Given the description of an element on the screen output the (x, y) to click on. 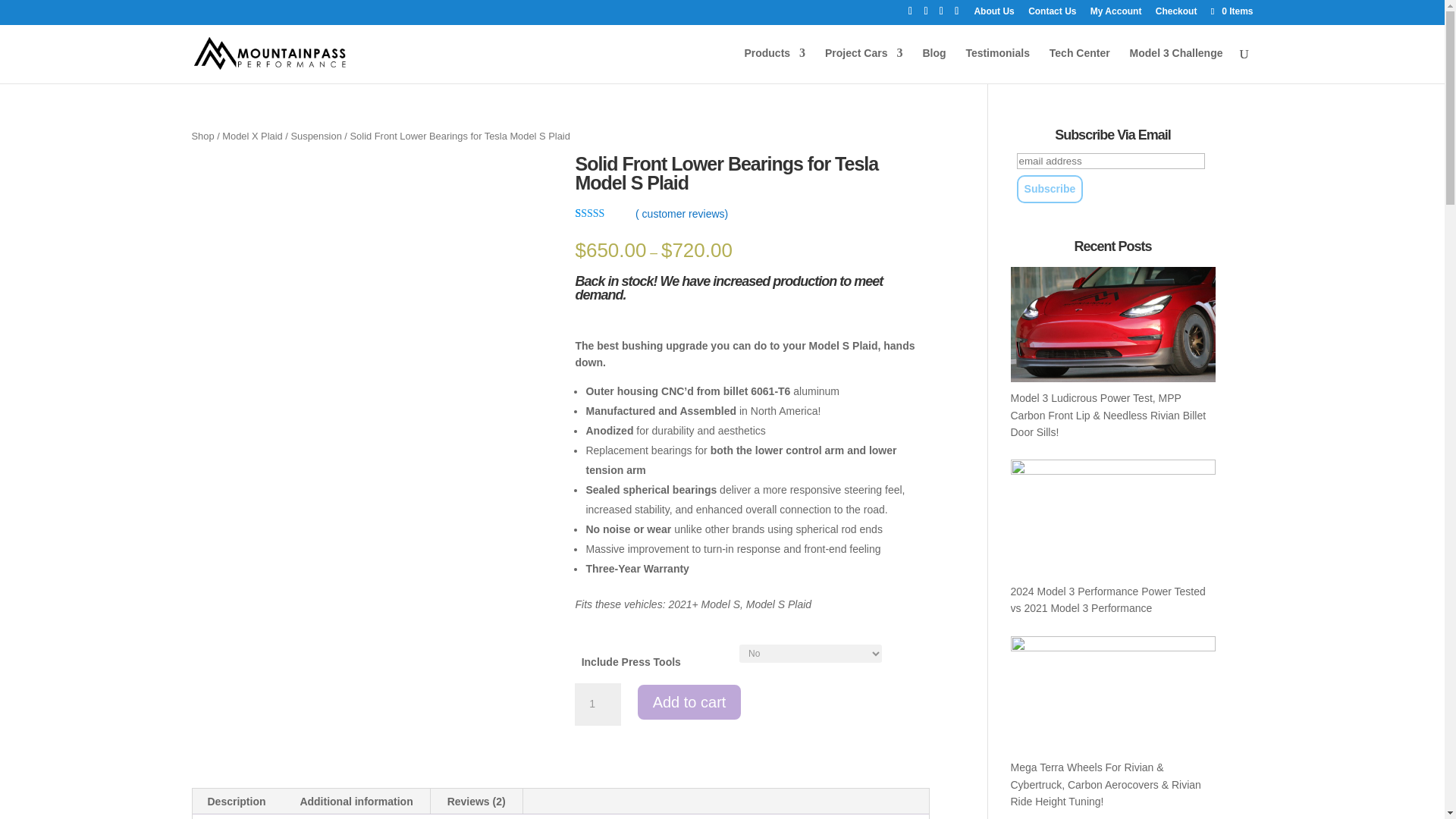
Model X Plaid (252, 135)
Blog (932, 65)
Additional information (355, 801)
Contact Us (1051, 14)
Suspension (316, 135)
Description (236, 801)
Add to cart (689, 702)
1 (597, 704)
Tech Center (1079, 65)
0 Items (1230, 10)
Checkout (1176, 14)
Shop (202, 135)
Products (774, 65)
My Account (1115, 14)
About Us (993, 14)
